Given the description of an element on the screen output the (x, y) to click on. 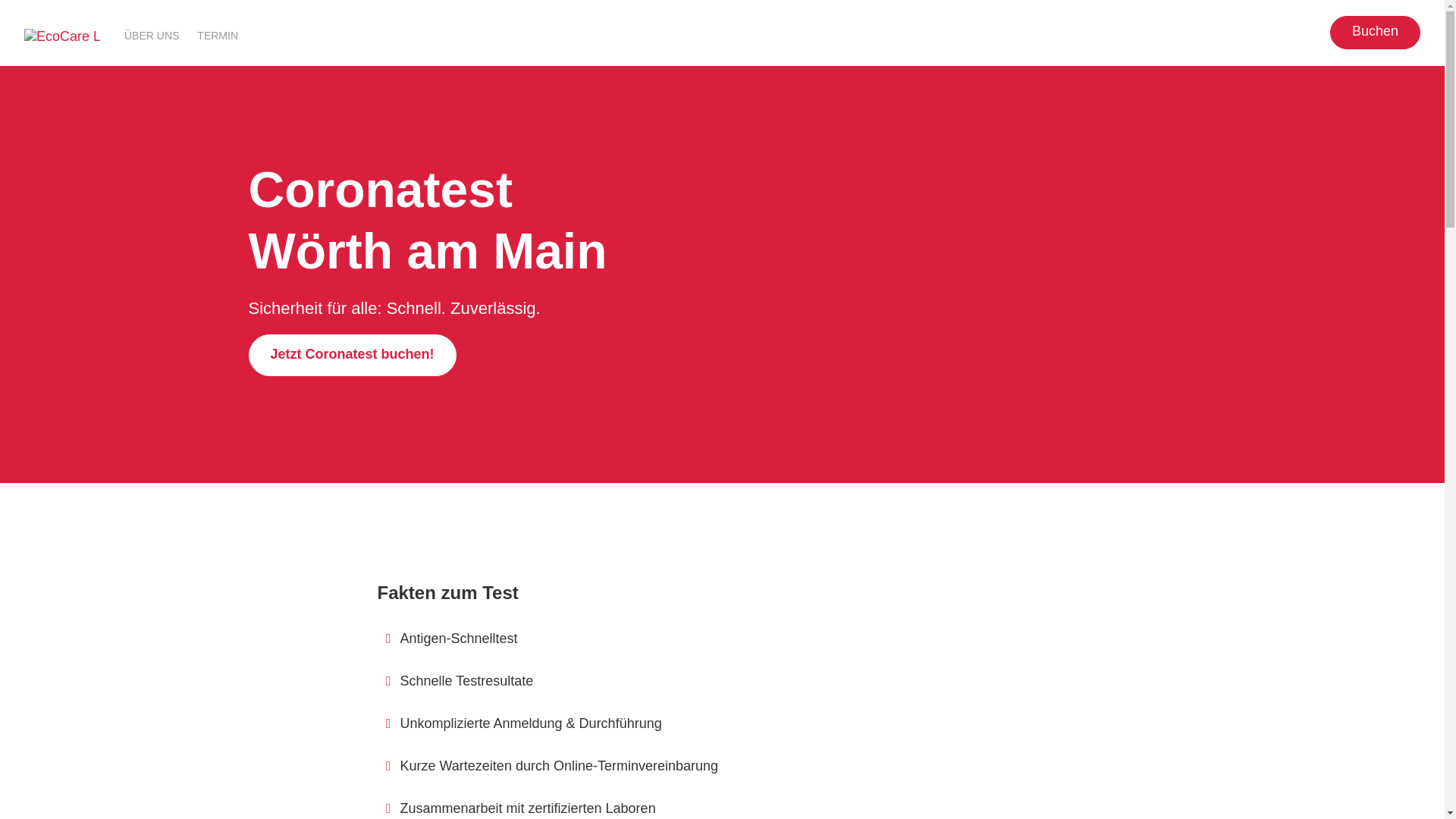
Home Element type: hover (62, 36)
Buchen Element type: text (1375, 32)
TERMIN Element type: text (217, 35)
Jetzt Coronatest buchen! Element type: text (352, 355)
